Given the description of an element on the screen output the (x, y) to click on. 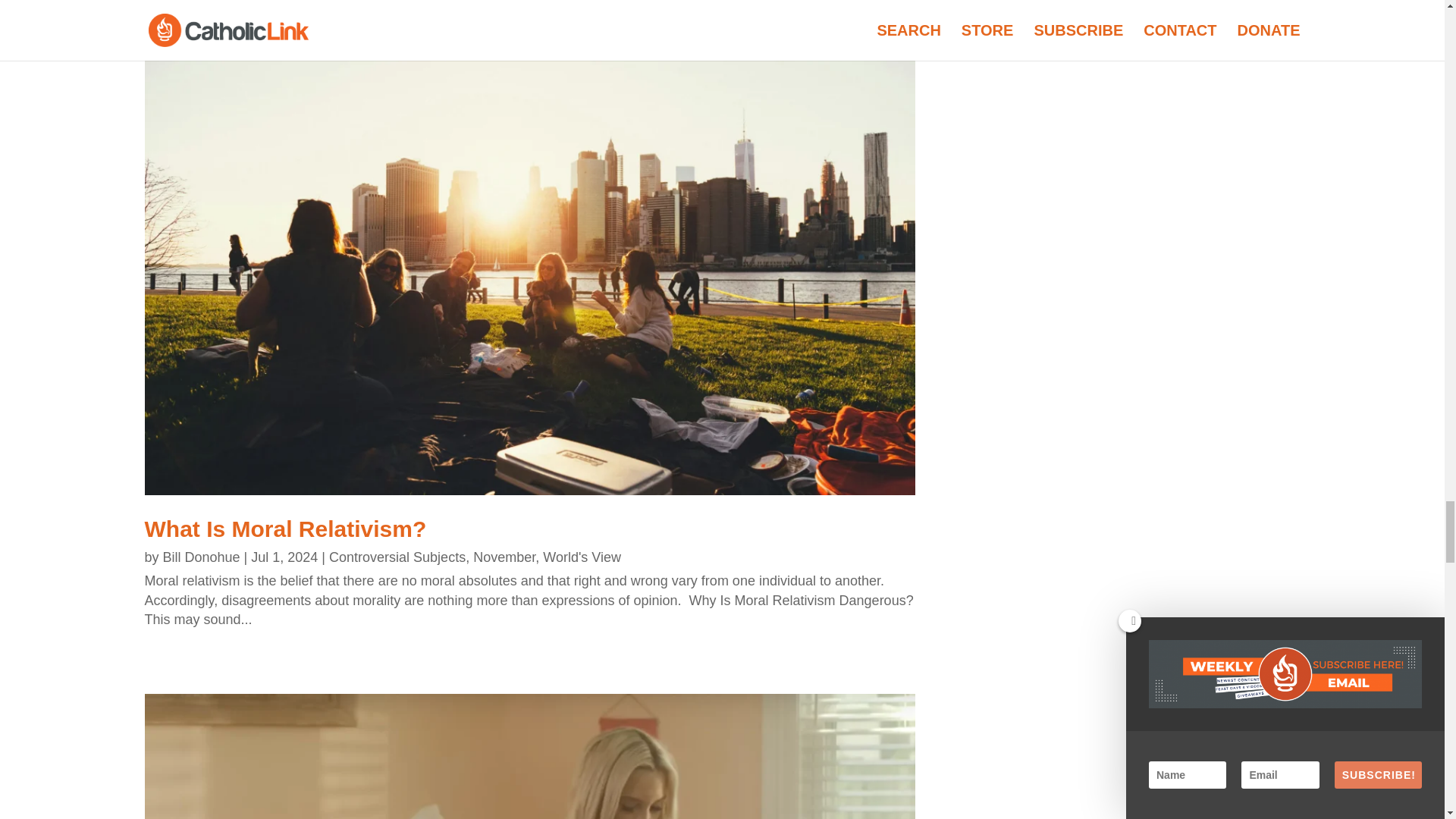
Posts by Bill Donohue (201, 557)
